Given the description of an element on the screen output the (x, y) to click on. 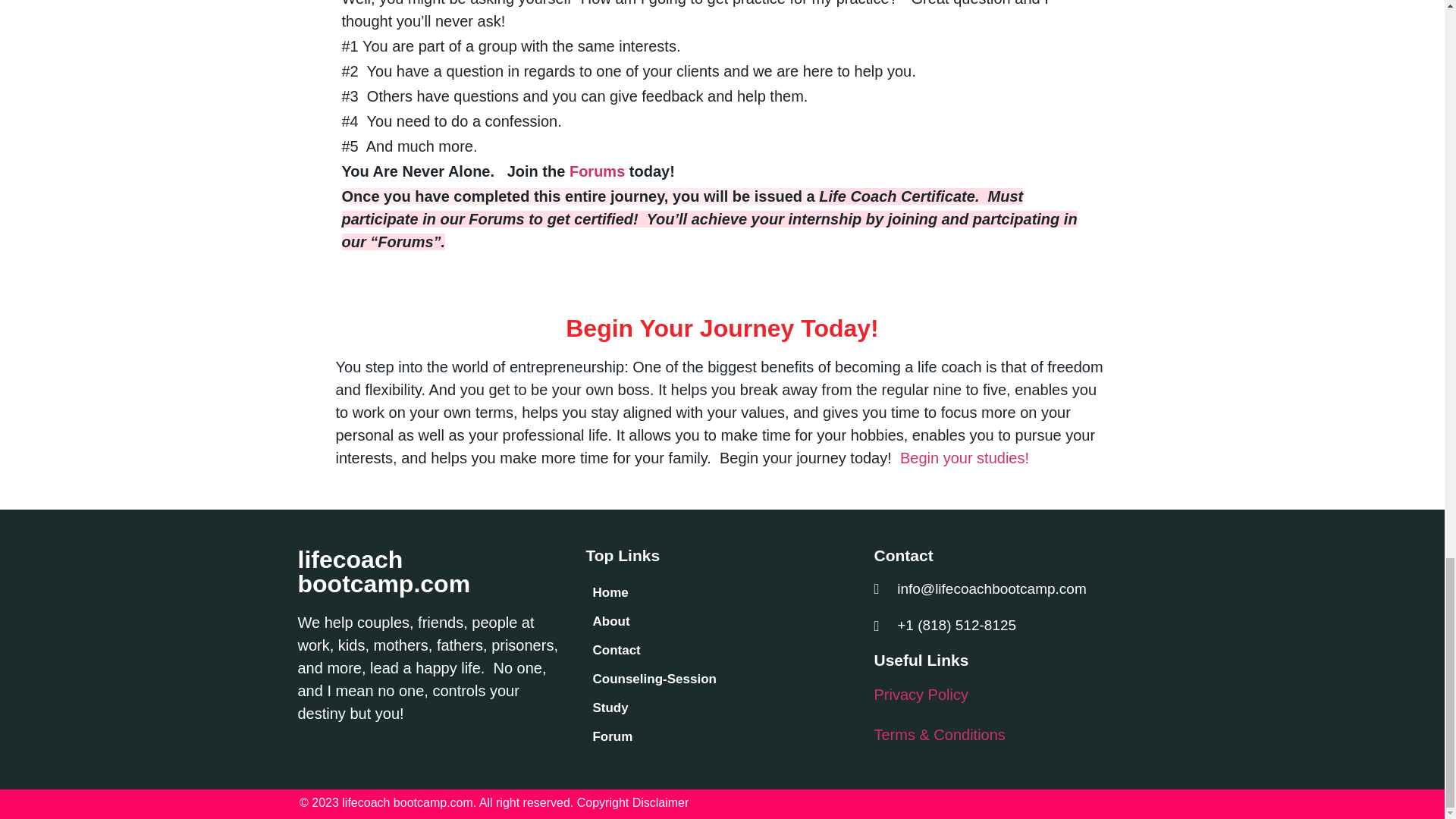
Counseling-Session (722, 679)
Contact (722, 650)
About (722, 621)
Begin your studies! (964, 457)
Forums (596, 170)
Home (722, 592)
